Given the description of an element on the screen output the (x, y) to click on. 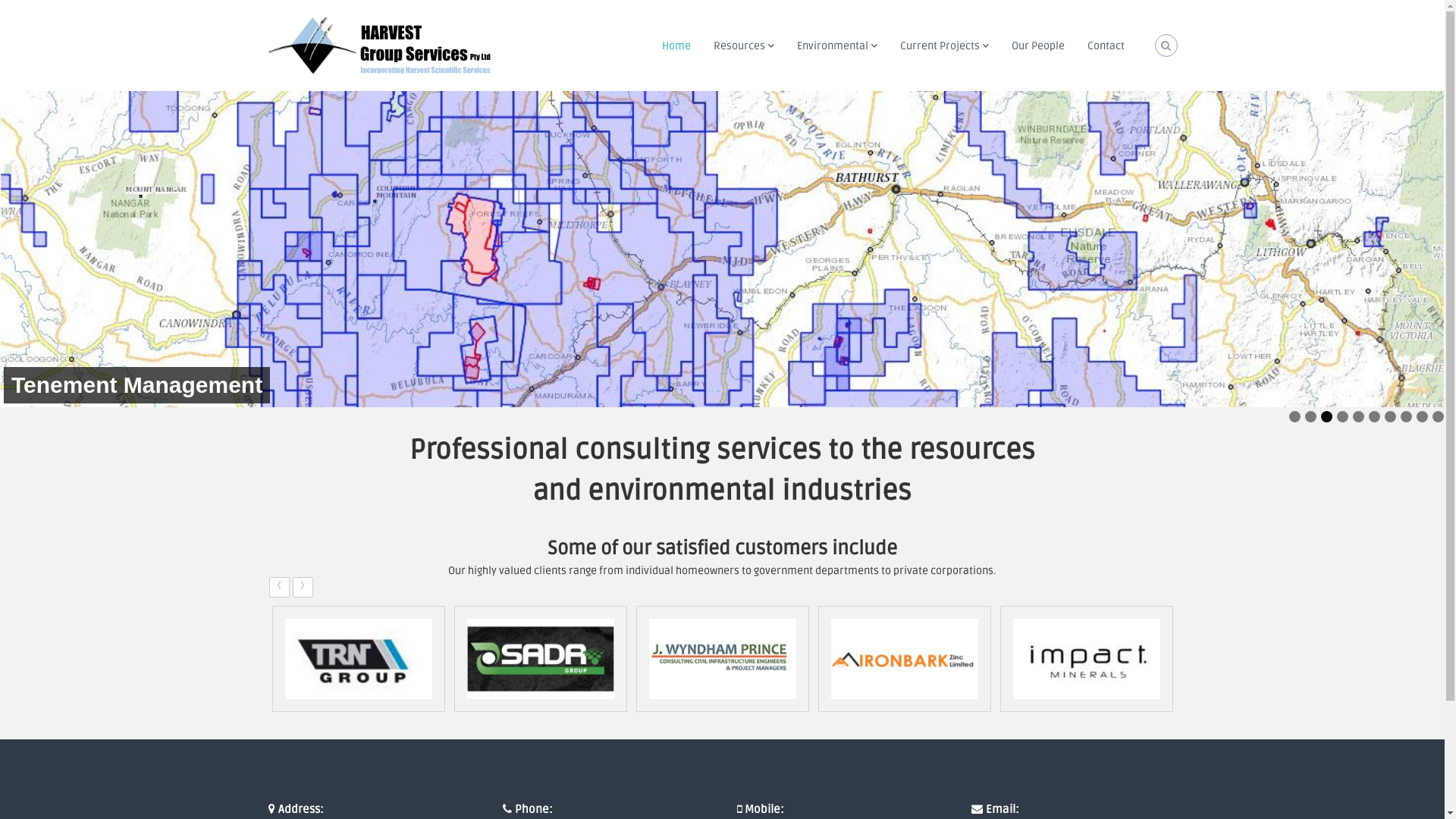
Home Element type: text (675, 45)
8 Element type: text (1406, 416)
Current Projects Element type: text (939, 45)
7 Element type: text (1390, 416)
5 Element type: text (1358, 416)
1 Element type: text (1294, 416)
9 Element type: text (1421, 416)
3 Element type: text (1326, 416)
10 Element type: text (1437, 416)
Our People Element type: text (1037, 45)
2 Element type: text (1310, 416)
4 Element type: text (1342, 416)
6 Element type: text (1374, 416)
Resources Element type: text (738, 45)
Contact Element type: text (1105, 45)
Environmental Element type: text (831, 45)
